Given the description of an element on the screen output the (x, y) to click on. 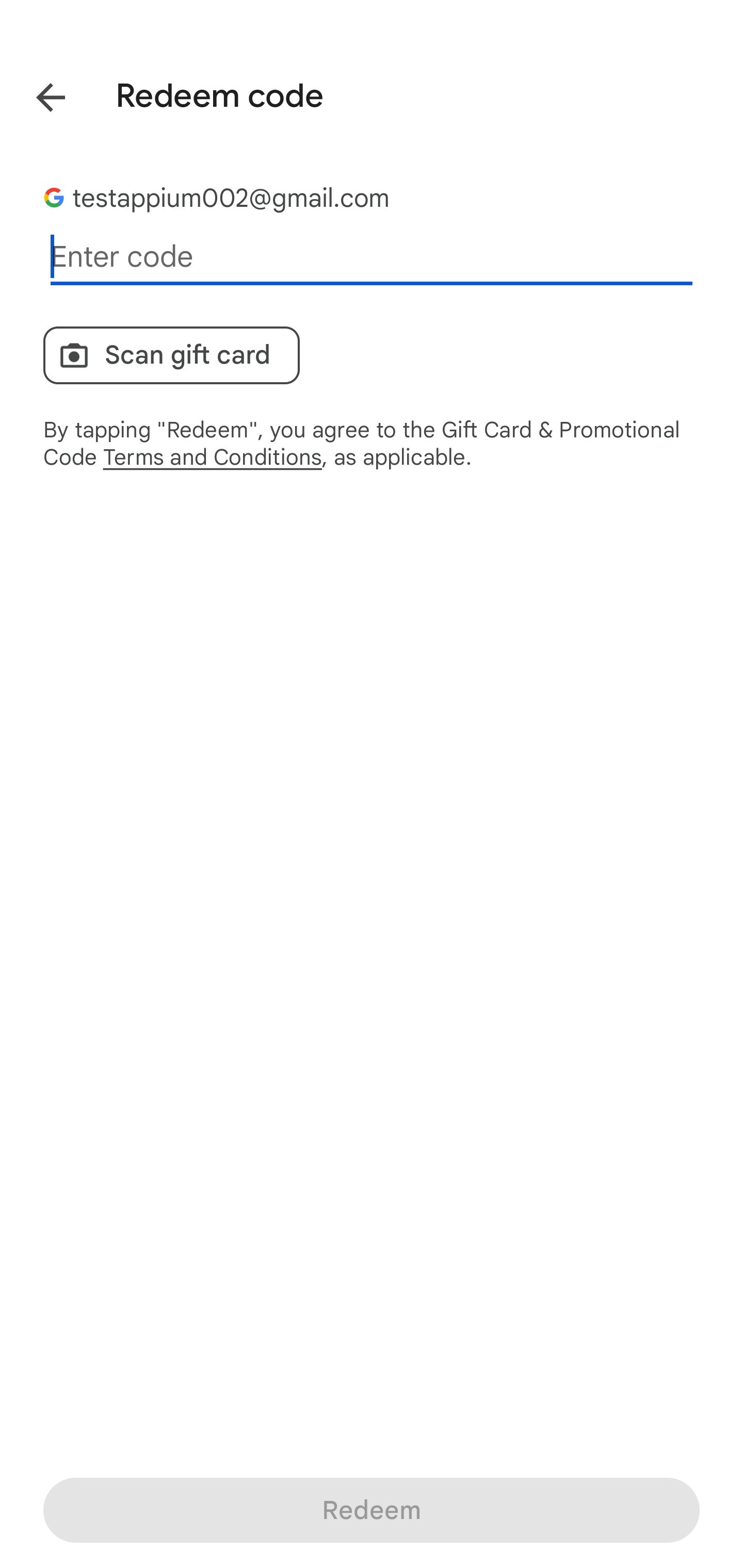
Back (36, 94)
Enter code (371, 256)
Scan gift card (171, 355)
